Given the description of an element on the screen output the (x, y) to click on. 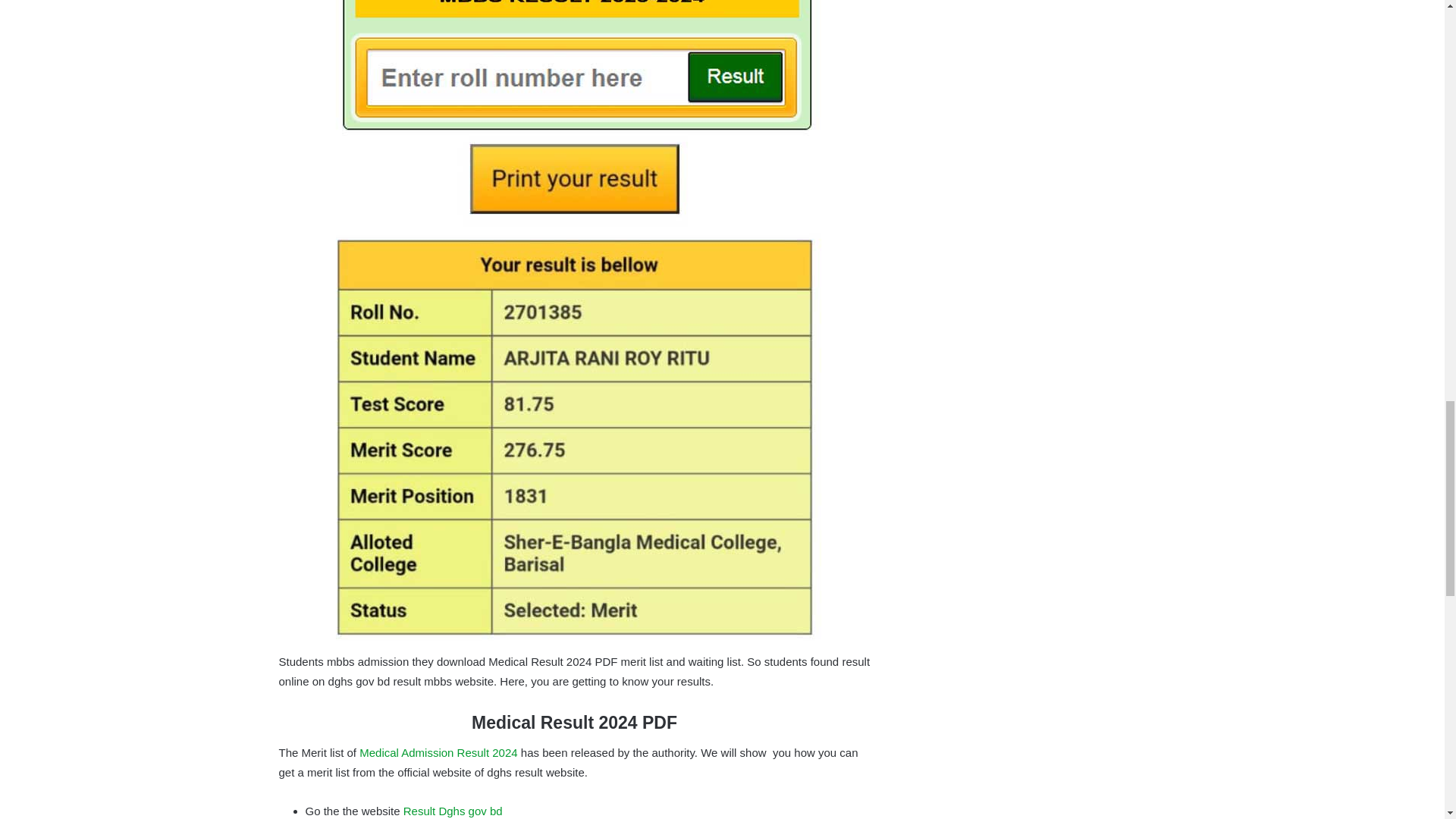
Result Dghs gov bd (452, 810)
Medical Admission Result 2024 (437, 752)
